Given the description of an element on the screen output the (x, y) to click on. 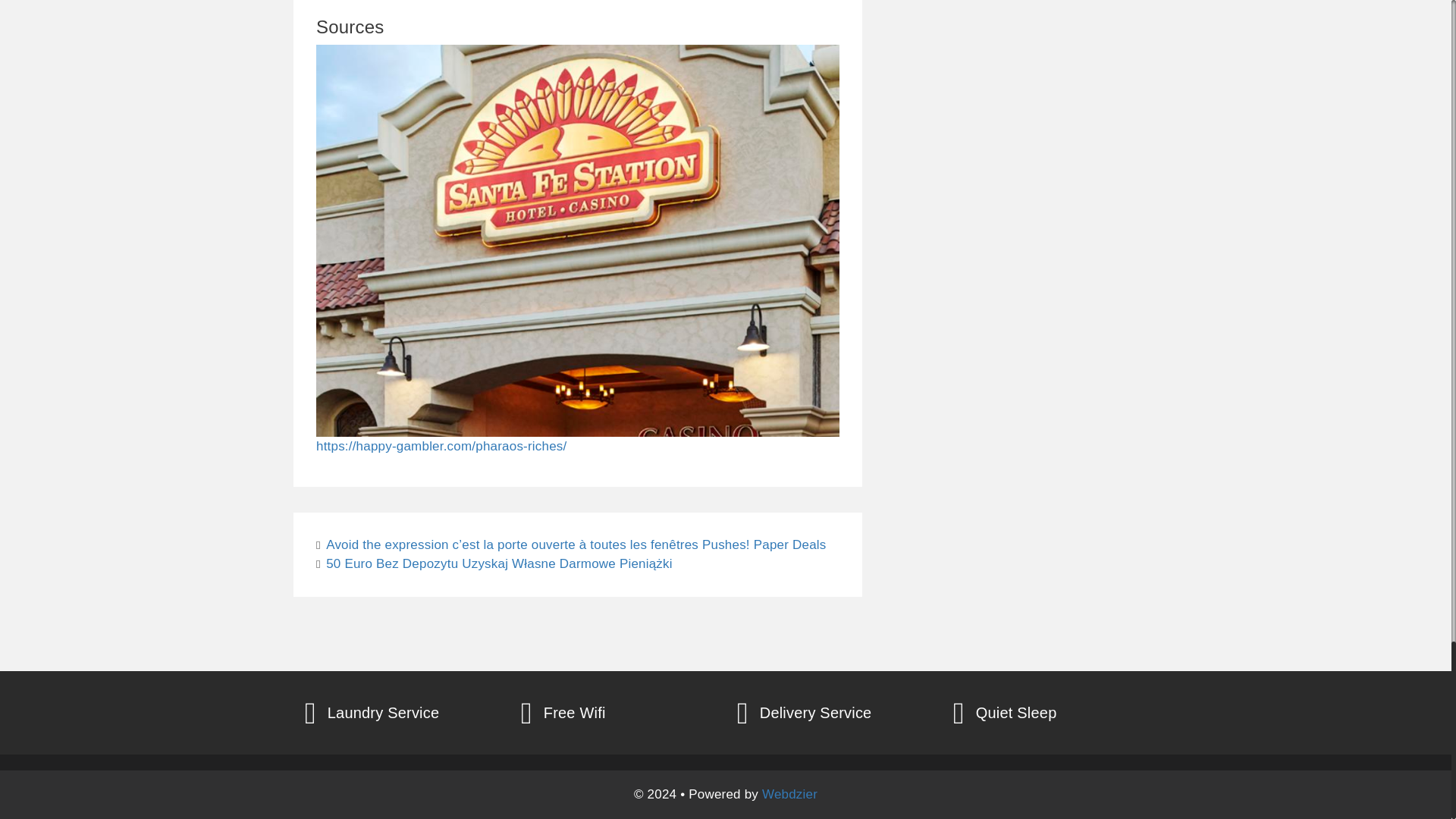
Previous (570, 544)
Next (493, 563)
